Given the description of an element on the screen output the (x, y) to click on. 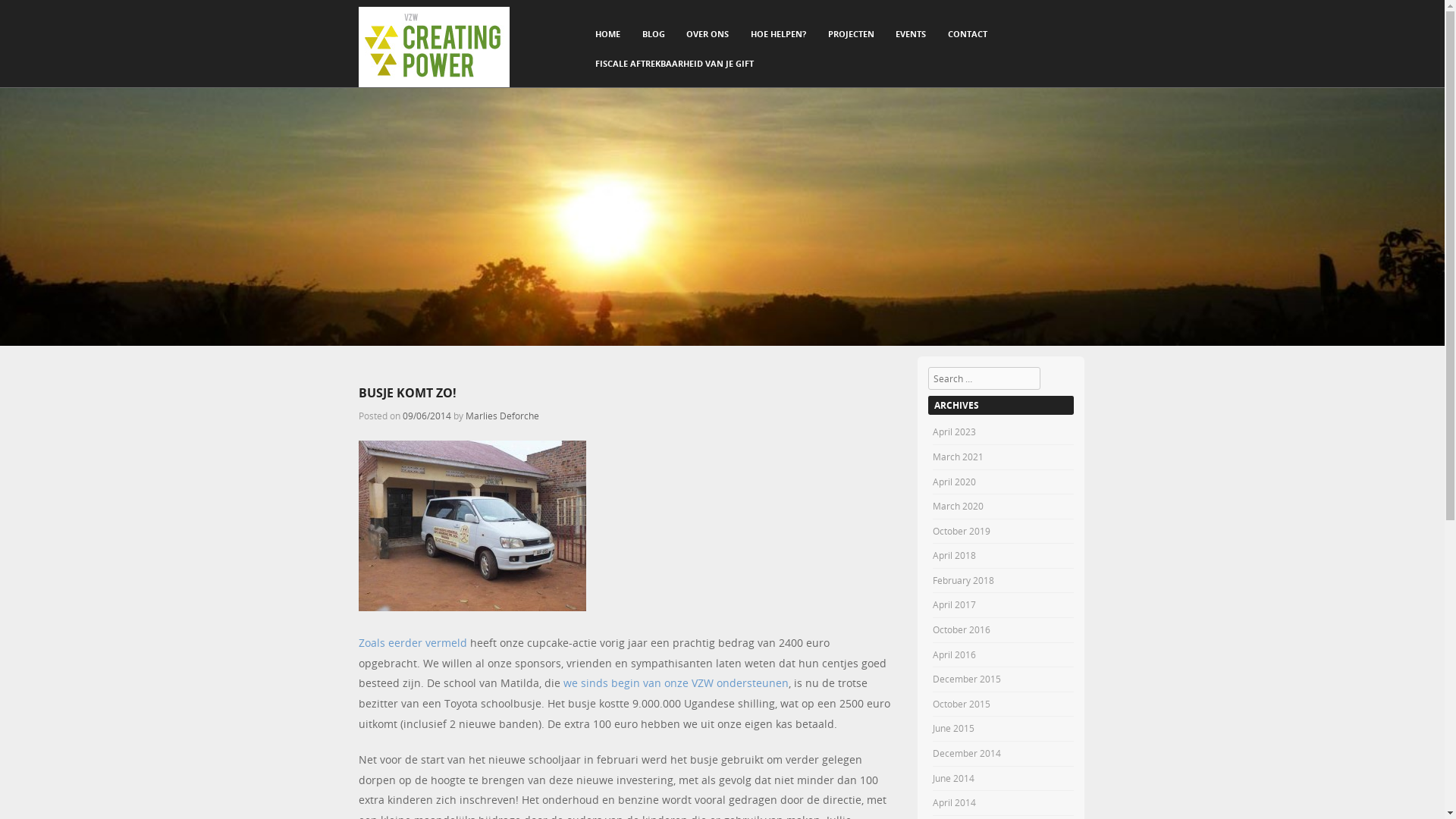
June 2014 Element type: text (953, 777)
April 2017 Element type: text (953, 604)
HOME Element type: text (607, 34)
BLOG Element type: text (653, 34)
October 2016 Element type: text (961, 629)
October 2019 Element type: text (961, 530)
March 2020 Element type: text (957, 505)
April 2018 Element type: text (953, 555)
we sinds begin van onze VZW ondersteunen Element type: text (674, 682)
April 2023 Element type: text (953, 431)
EVENTS Element type: text (910, 34)
October 2015 Element type: text (961, 703)
HOE HELPEN? Element type: text (777, 34)
Zoals eerder vermeld Element type: text (411, 642)
OVER ONS Element type: text (708, 34)
February 2018 Element type: text (963, 580)
SKIP TO CONTENT Element type: text (619, 28)
vzw Creating Power Element type: hover (722, 341)
April 2016 Element type: text (953, 654)
April 2014 Element type: text (953, 802)
CONTACT Element type: text (967, 34)
Marlies Deforche Element type: text (502, 415)
April 2020 Element type: text (953, 481)
vzw Creating Power Element type: hover (432, 46)
PROJECTEN Element type: text (851, 34)
December 2015 Element type: text (966, 678)
March 2021 Element type: text (957, 456)
FISCALE AFTREKBAARHEID VAN JE GIFT Element type: text (674, 63)
June 2015 Element type: text (953, 727)
December 2014 Element type: text (966, 752)
Search Element type: text (26, 14)
09/06/2014 Element type: text (425, 415)
